Given the description of an element on the screen output the (x, y) to click on. 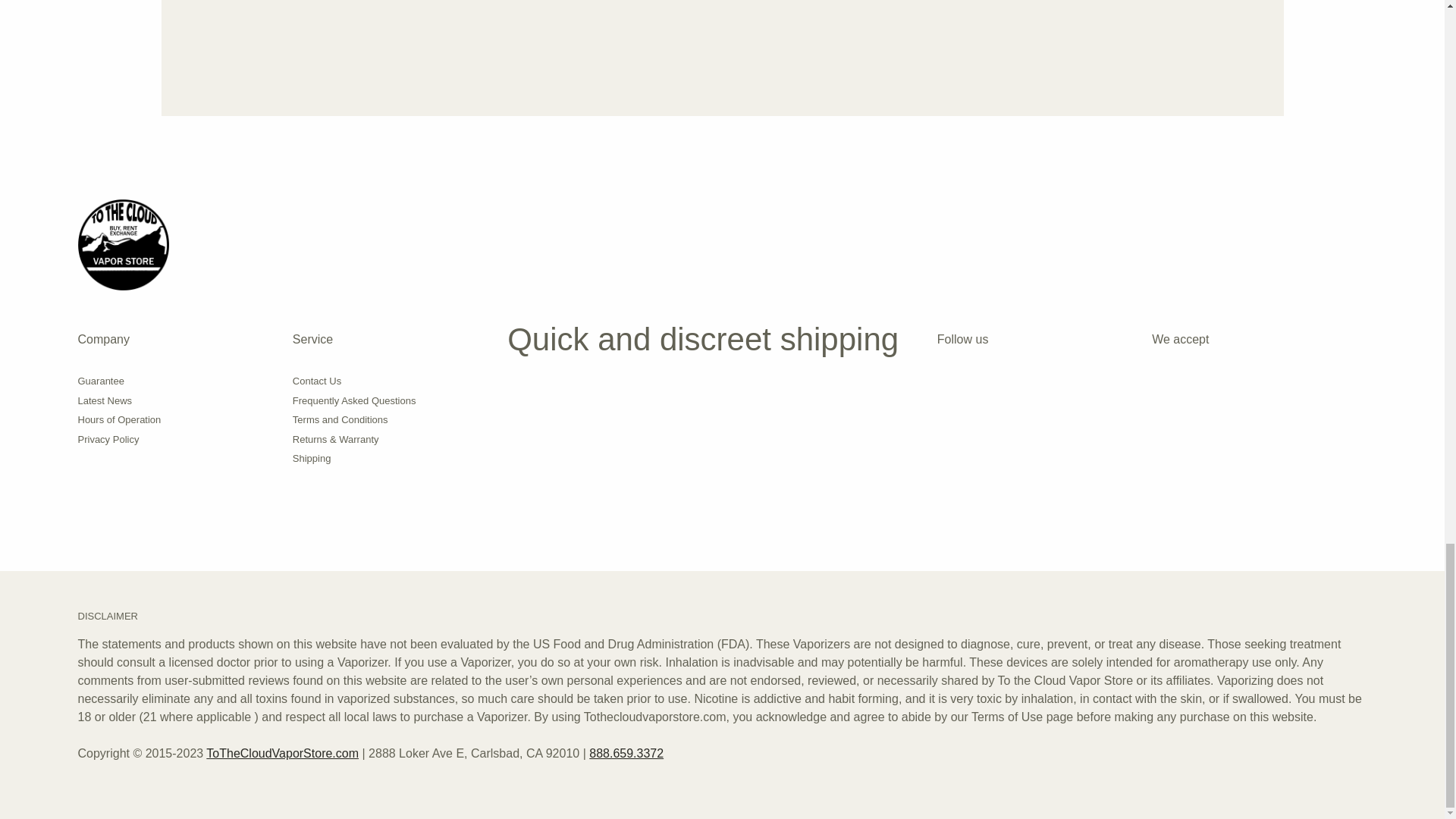
To The Cloud Vapor Store on Instagram (946, 387)
To The Cloud Vapor Store on Twitter (1018, 387)
To The Cloud Vapor Store on Facebook (982, 387)
